Given the description of an element on the screen output the (x, y) to click on. 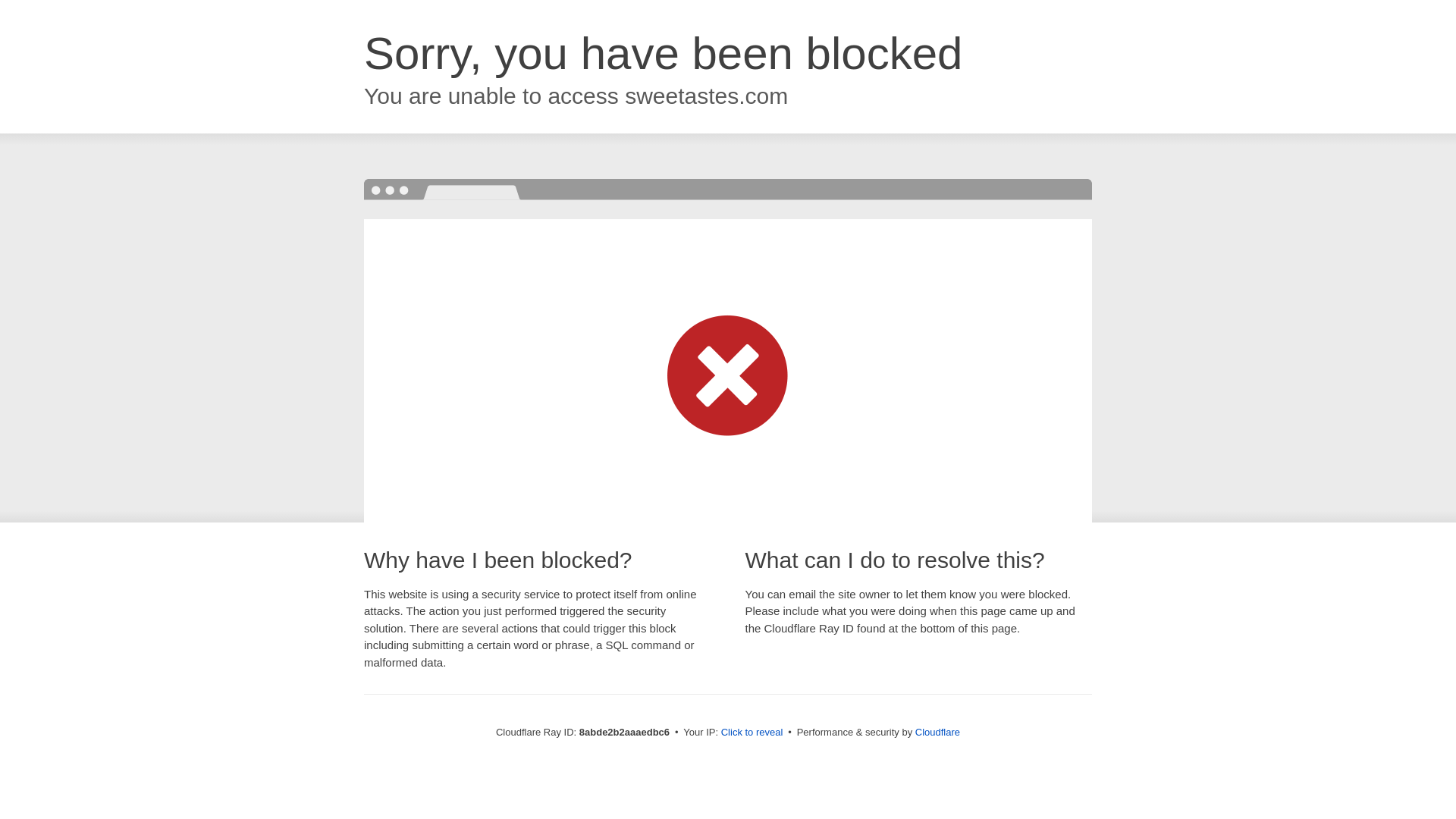
Click to reveal (748, 732)
Cloudflare (935, 731)
